Given the description of an element on the screen output the (x, y) to click on. 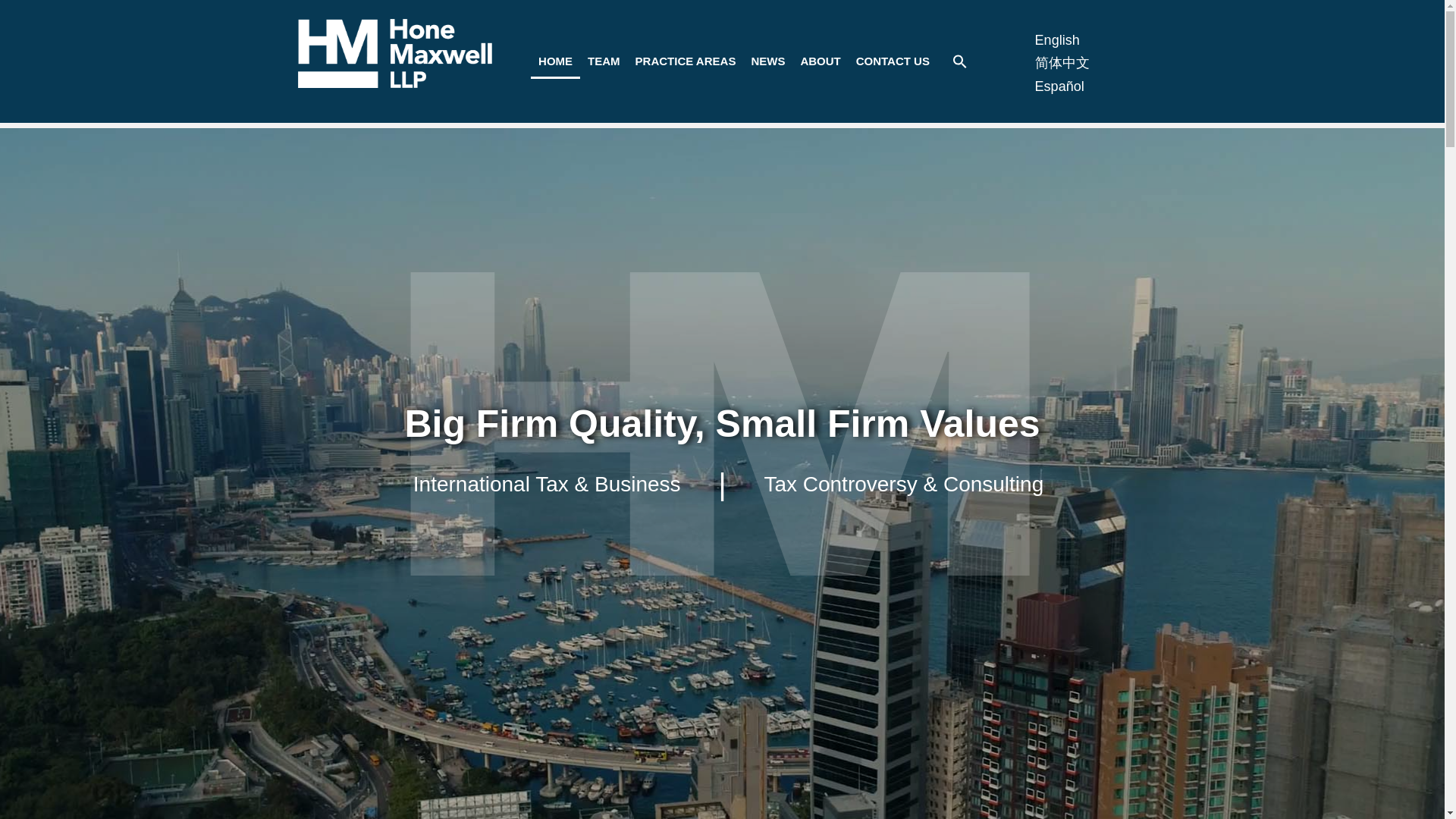
CONTACT US (892, 61)
HOME (555, 61)
ABOUT (819, 61)
NEWS (767, 61)
TEAM (603, 61)
PRACTICE AREAS (685, 61)
